Given the description of an element on the screen output the (x, y) to click on. 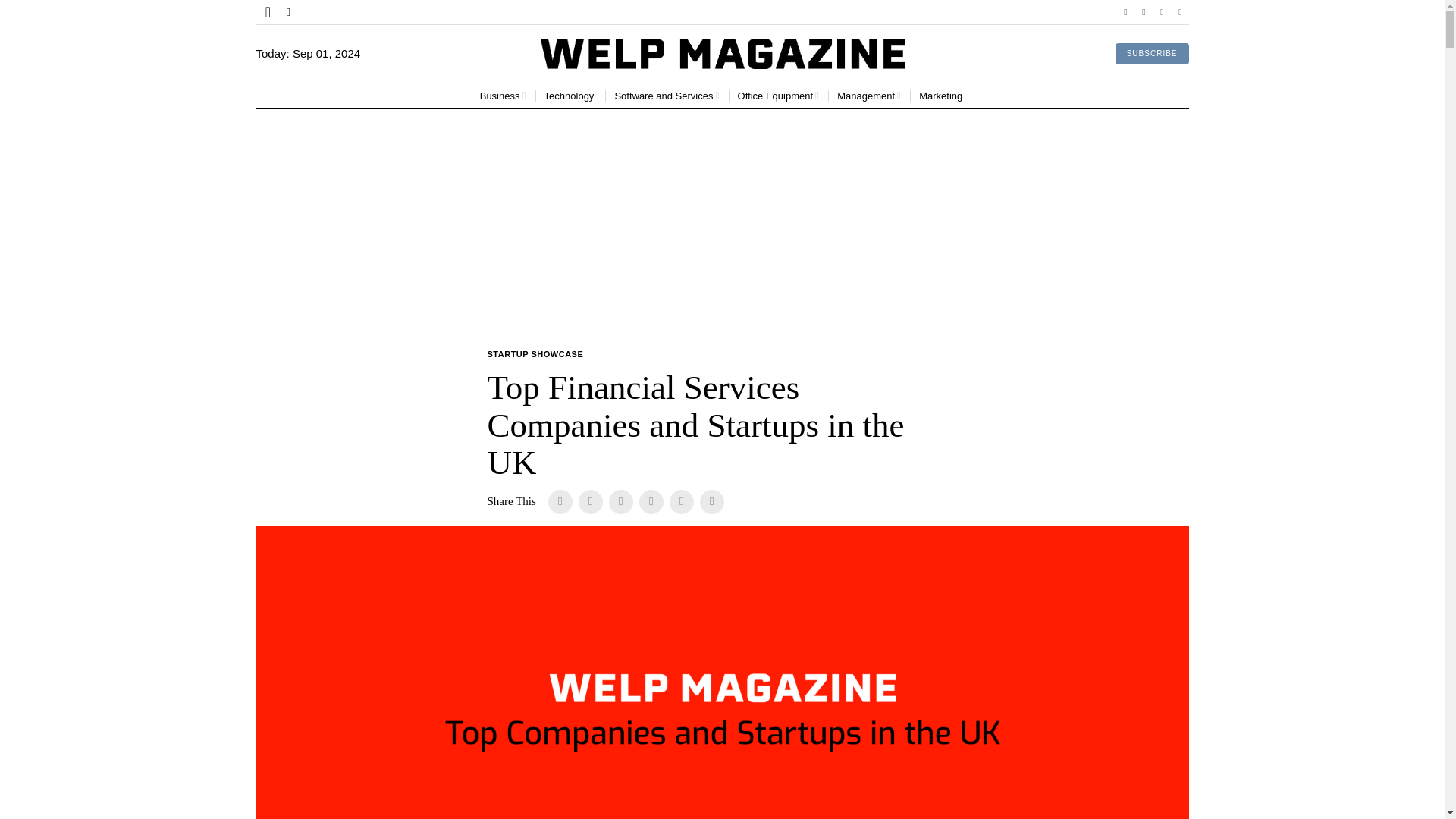
Business (502, 95)
STARTUP SHOWCASE (534, 354)
Technology (570, 95)
Software and Services (666, 95)
Management (869, 95)
Office Equipment (778, 95)
Marketing (942, 95)
SUBSCRIBE (1152, 53)
